Given the description of an element on the screen output the (x, y) to click on. 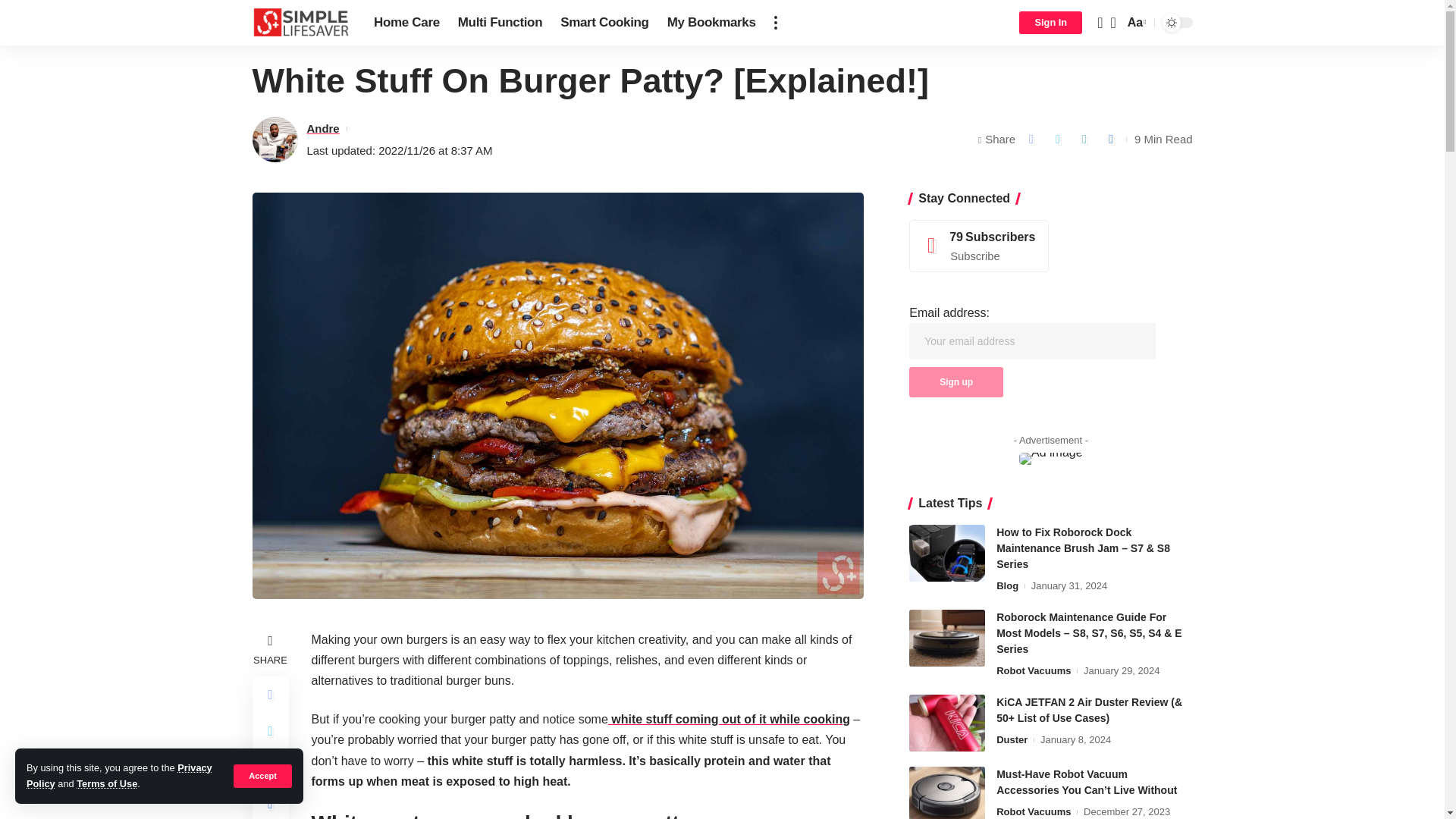
Sign In (1050, 22)
Aa (1135, 22)
Multi Function (499, 22)
Sign up (955, 381)
Smart Cooking (604, 22)
Terms of Use (106, 783)
Privacy Policy (119, 775)
Home Care (406, 22)
Simple Lifesaver (300, 22)
Accept (262, 775)
My Bookmarks (711, 22)
